Given the description of an element on the screen output the (x, y) to click on. 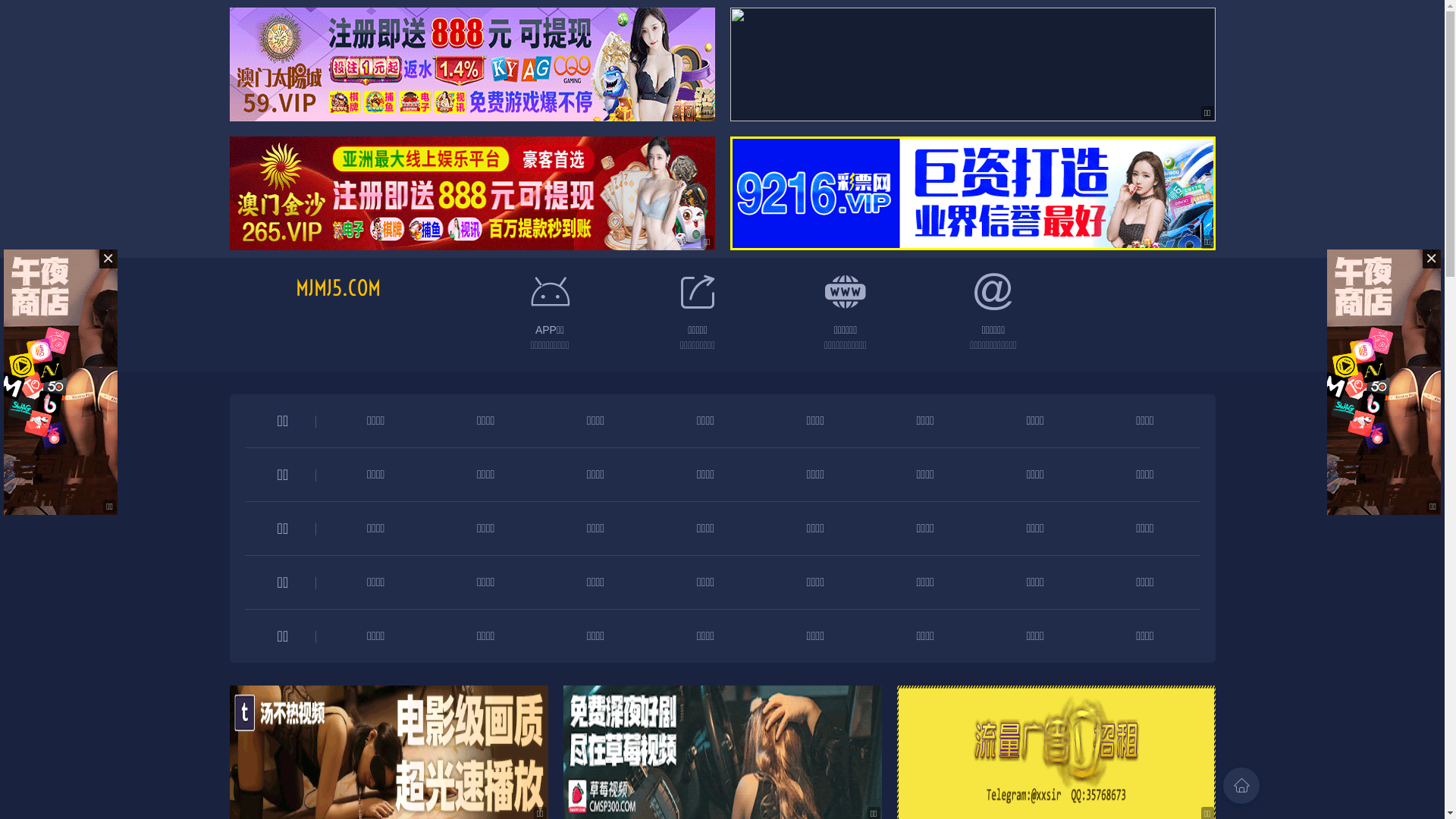
MJMJ5.COM Element type: text (337, 287)
